Given the description of an element on the screen output the (x, y) to click on. 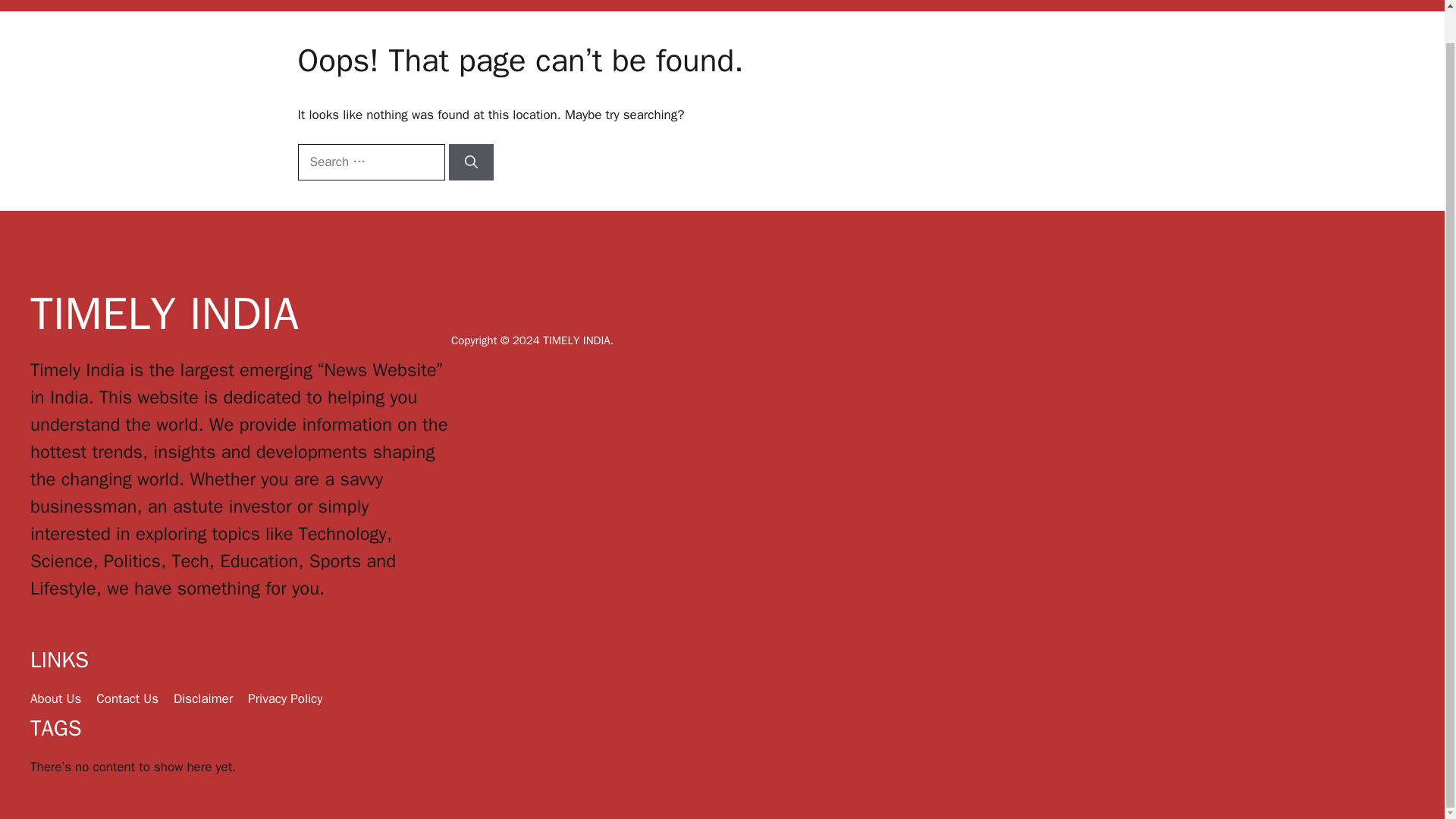
Disclaimer (202, 698)
Blog (1153, 5)
Privacy Policy (284, 698)
About (909, 5)
Contact Us (982, 5)
Contact Us (127, 698)
Timely India (729, 9)
Search for: (370, 162)
Disclaimer (1221, 5)
About Us (55, 698)
